Given the description of an element on the screen output the (x, y) to click on. 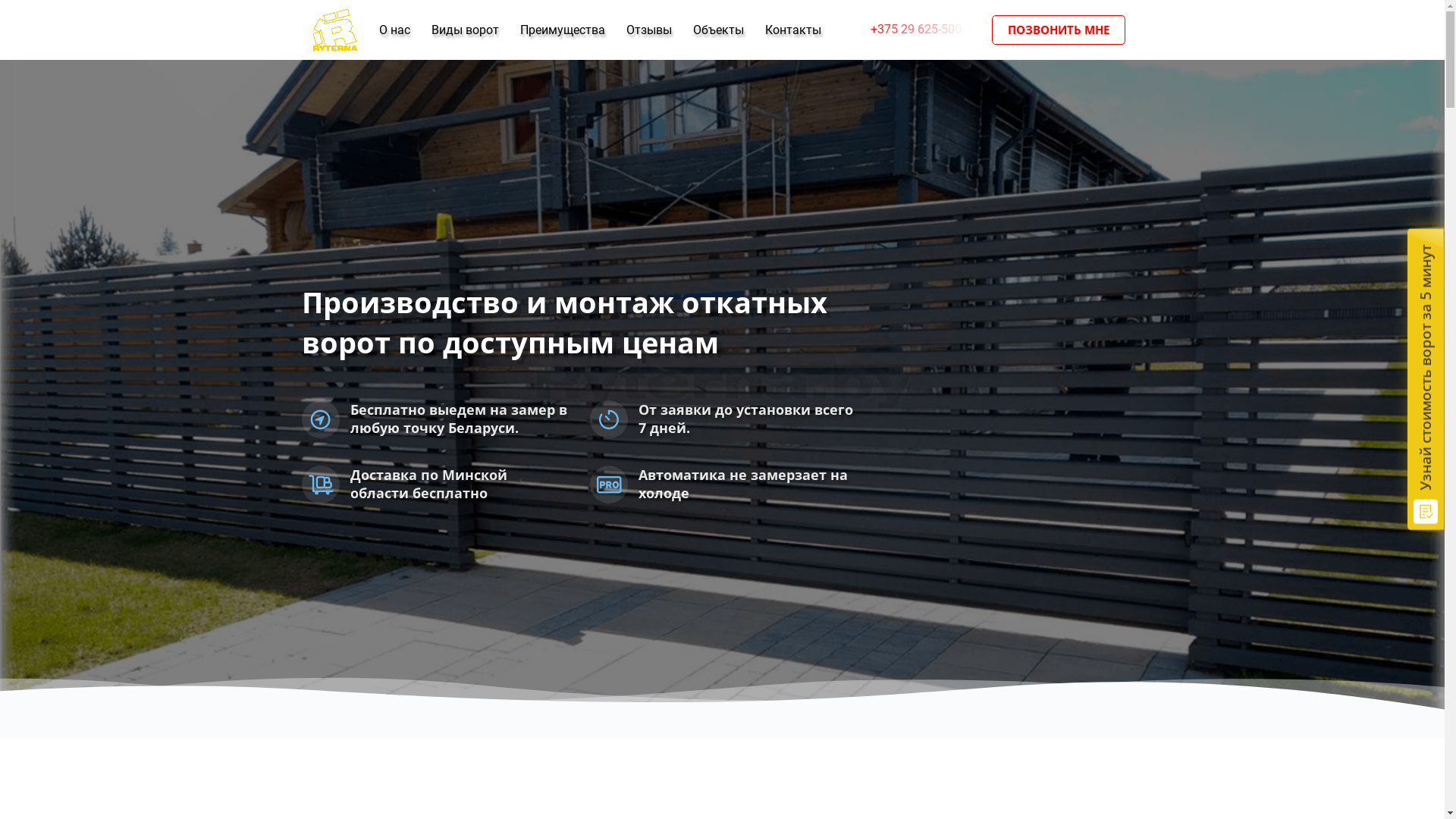
+375 29 625-500 Element type: text (919, 29)
